Given the description of an element on the screen output the (x, y) to click on. 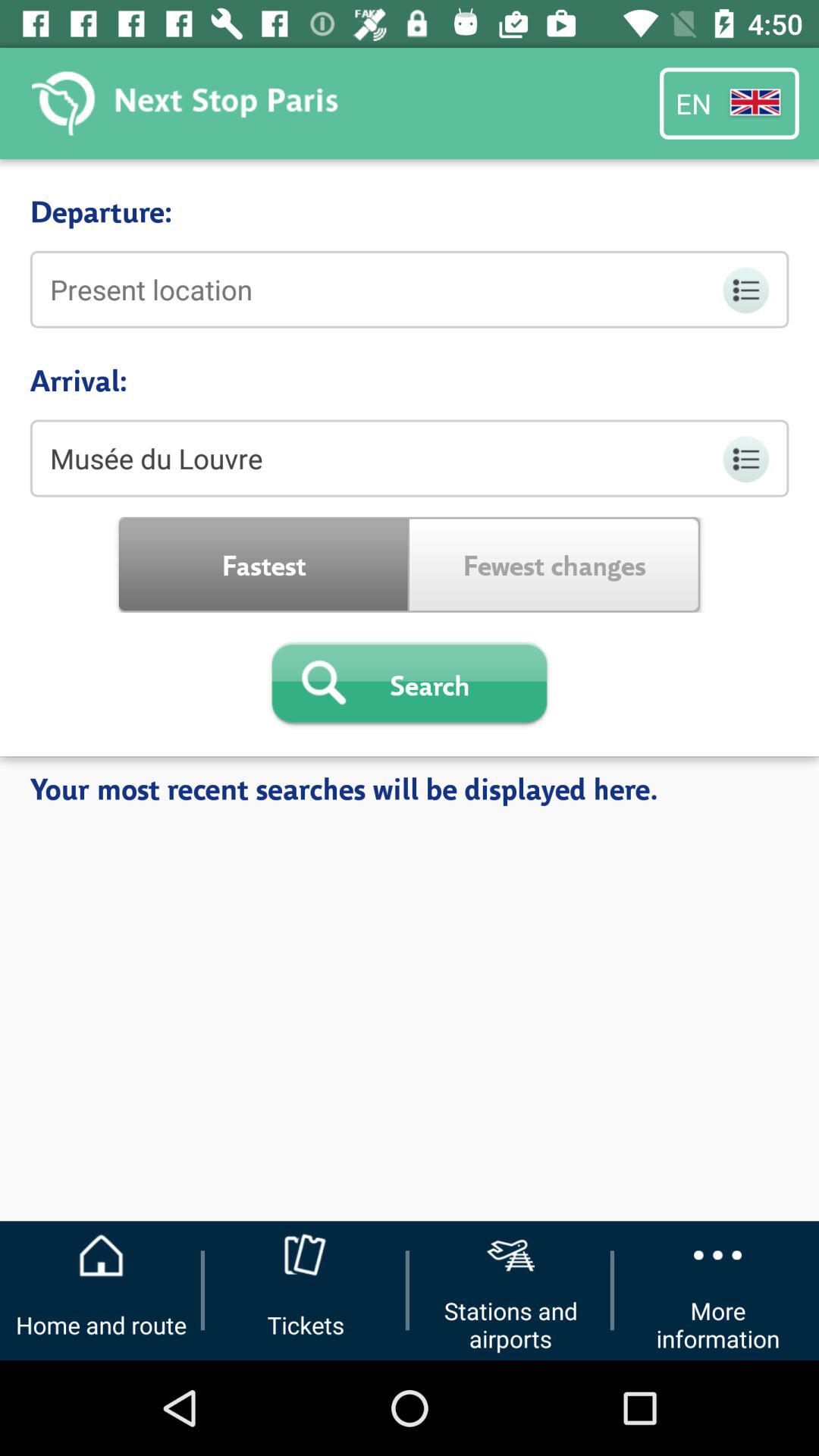
tap item next to fastest (554, 564)
